Given the description of an element on the screen output the (x, y) to click on. 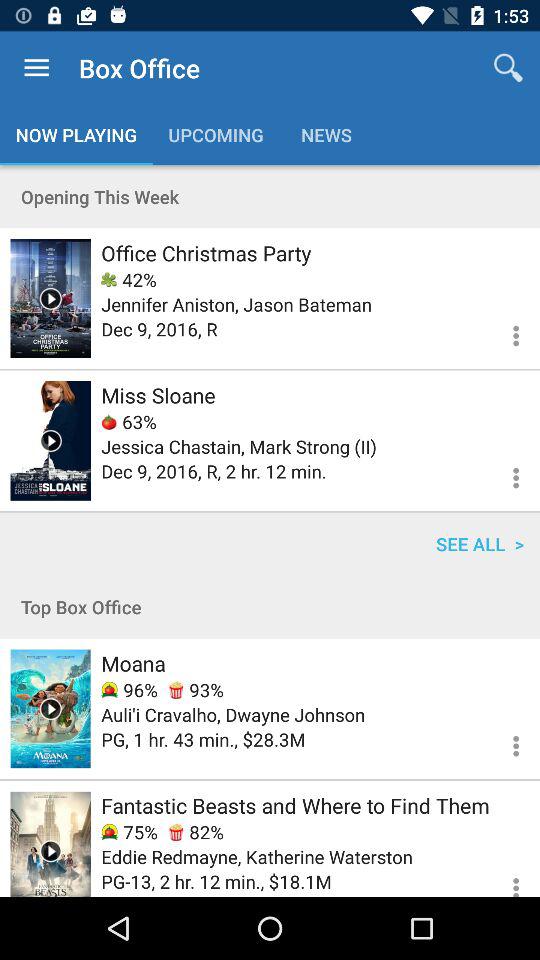
open item below the top box office icon (133, 663)
